Given the description of an element on the screen output the (x, y) to click on. 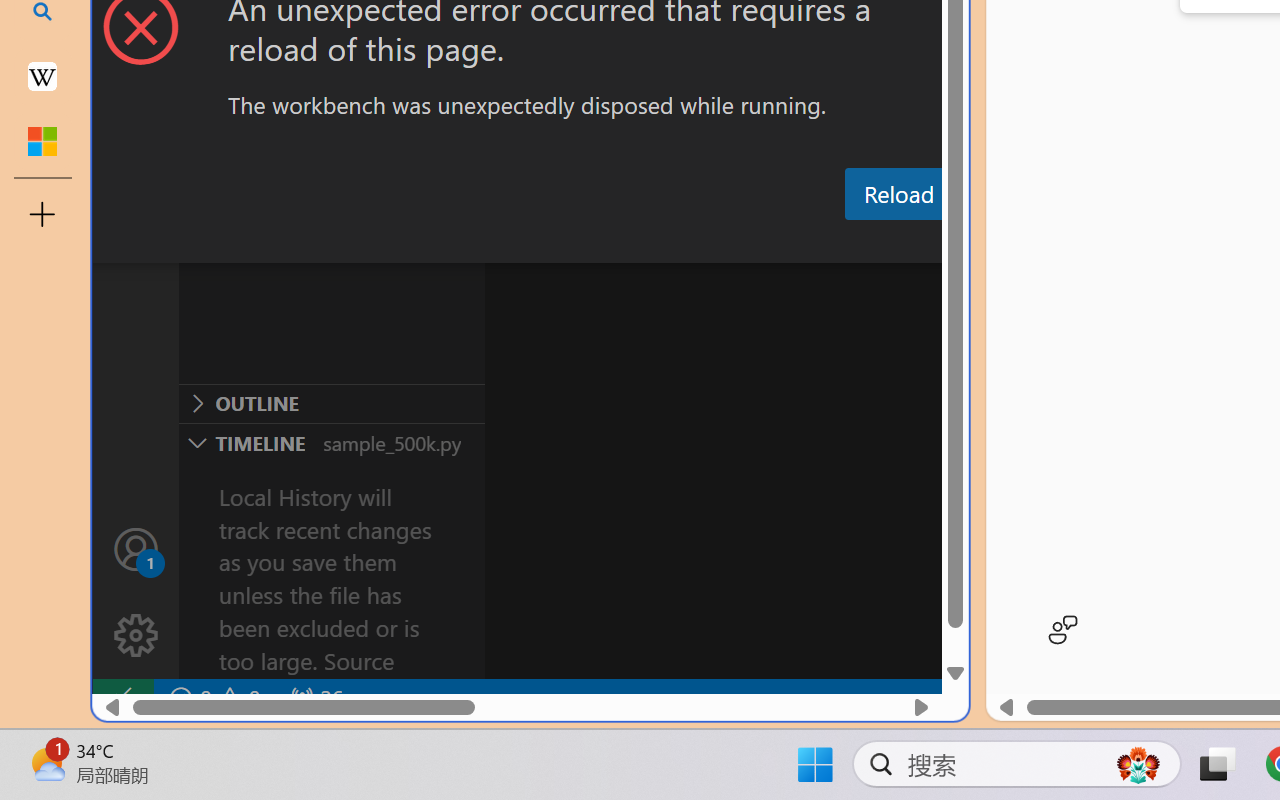
Terminal (Ctrl+`) (1021, 243)
Output (Ctrl+Shift+U) (696, 243)
